Given the description of an element on the screen output the (x, y) to click on. 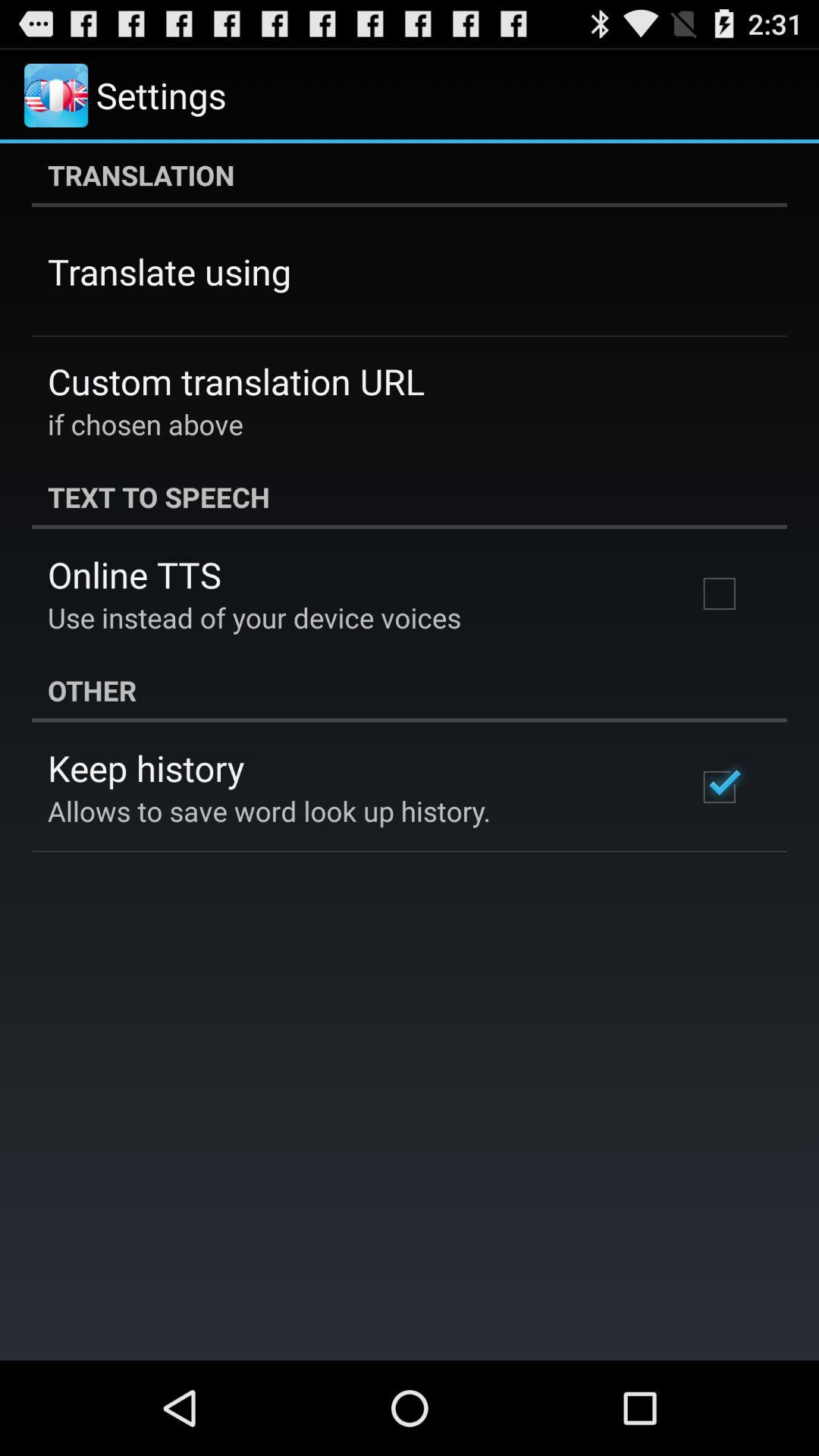
flip to other icon (409, 690)
